Given the description of an element on the screen output the (x, y) to click on. 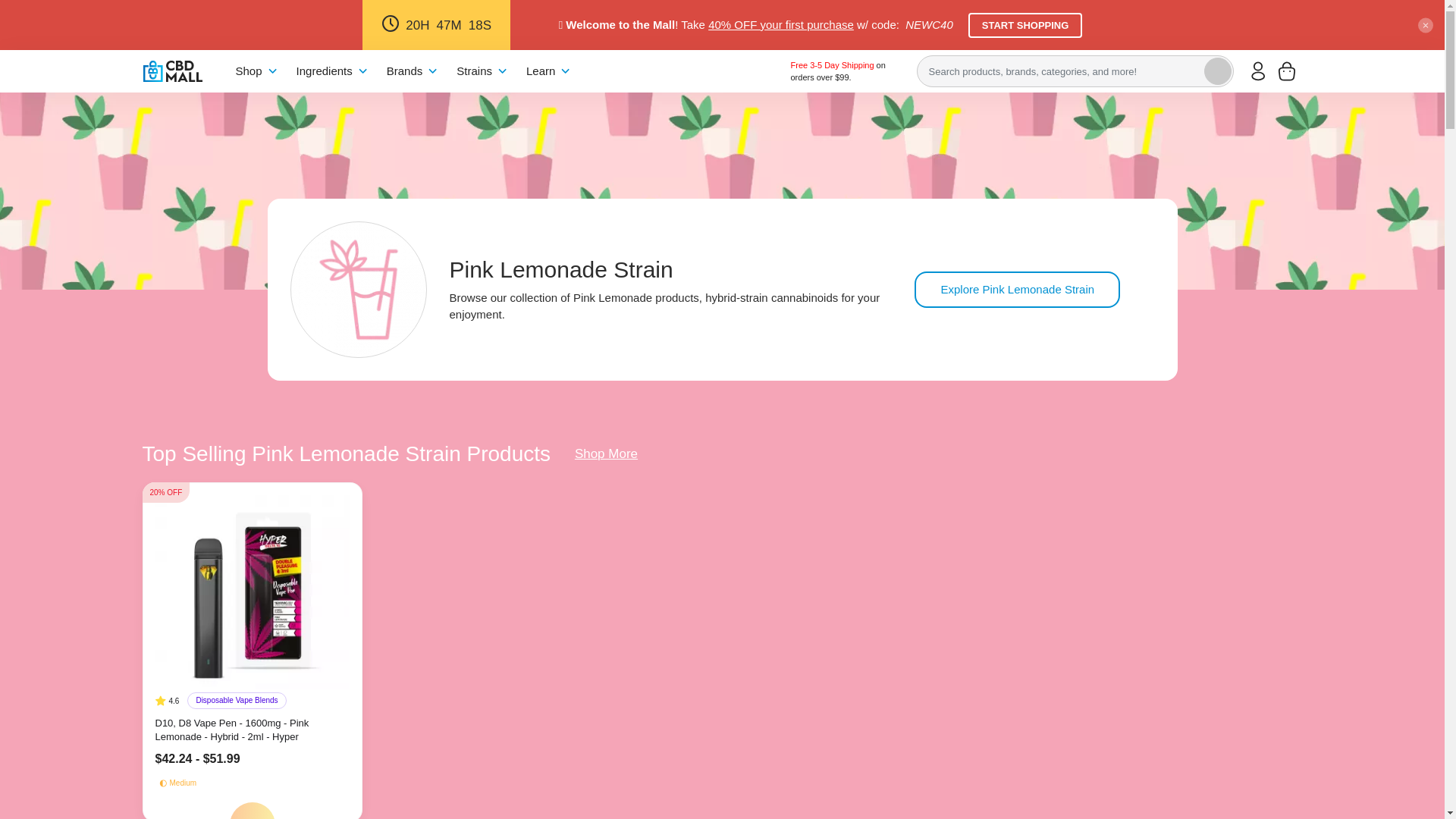
Disposable Vape Blends (236, 700)
Shop More (606, 453)
Disposable Vape Blends (236, 700)
Shop (255, 70)
Brands (412, 70)
Apply (1217, 71)
CBD Mall Homepage (172, 70)
Strains (481, 70)
